Given the description of an element on the screen output the (x, y) to click on. 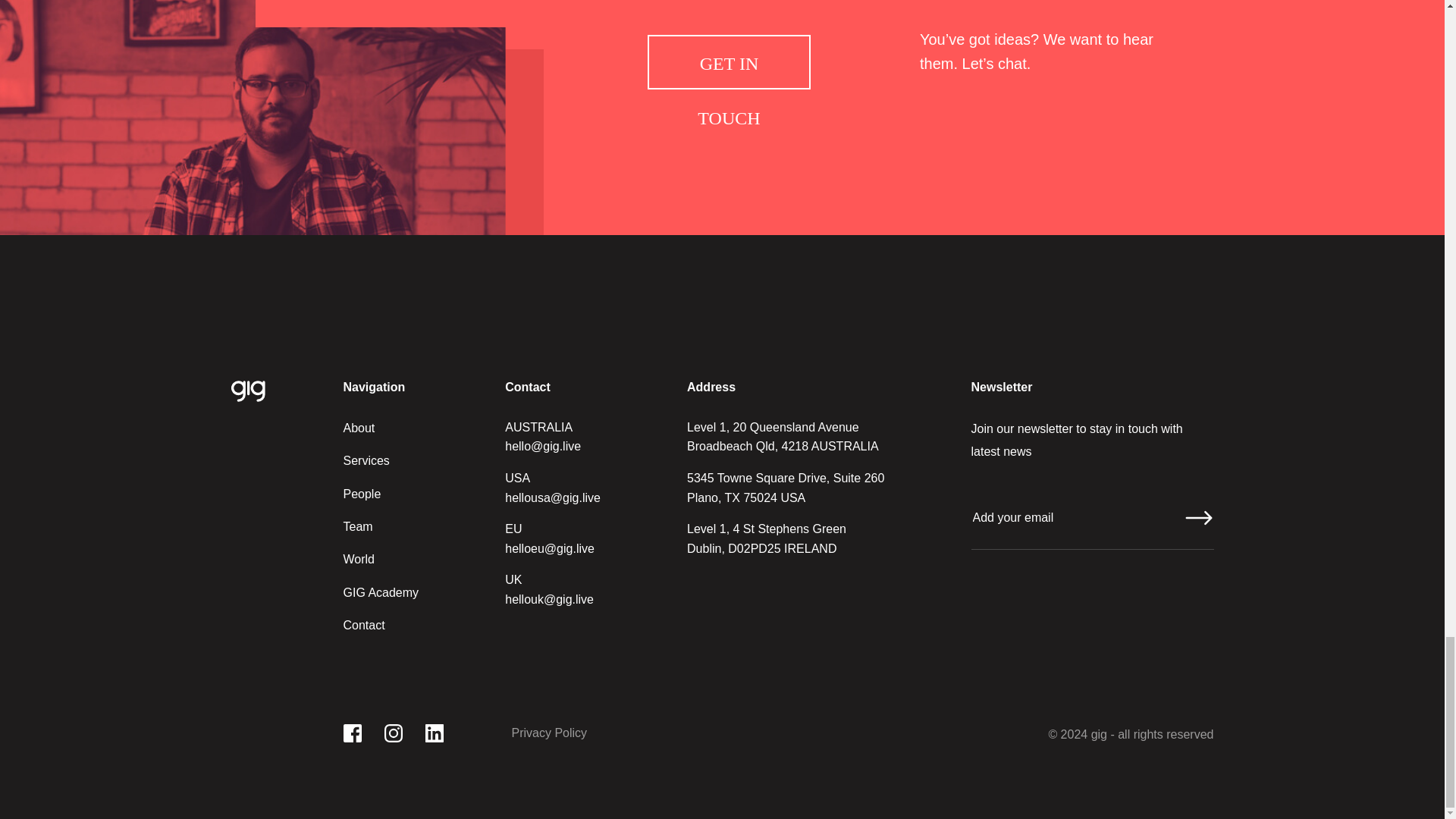
Team (357, 526)
About (358, 427)
World (358, 558)
Contact (363, 625)
Privacy Policy (548, 733)
Facebook (351, 732)
GET IN TOUCH (728, 62)
Services (365, 460)
GIG Academy (380, 592)
LinkedIn (433, 732)
